Given the description of an element on the screen output the (x, y) to click on. 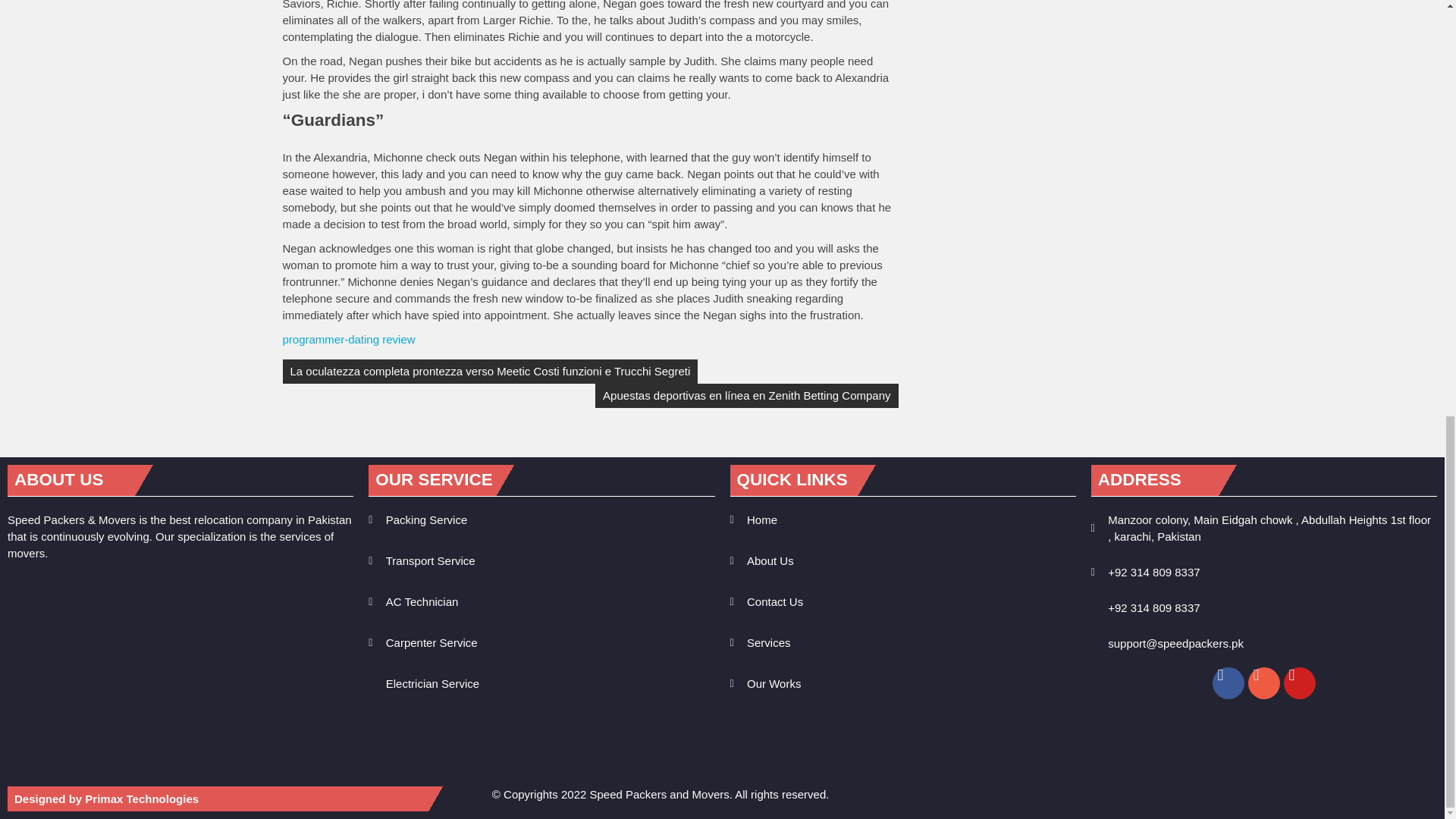
Packing Service (541, 519)
Transport Service (541, 560)
programmer-dating review (348, 338)
